Given the description of an element on the screen output the (x, y) to click on. 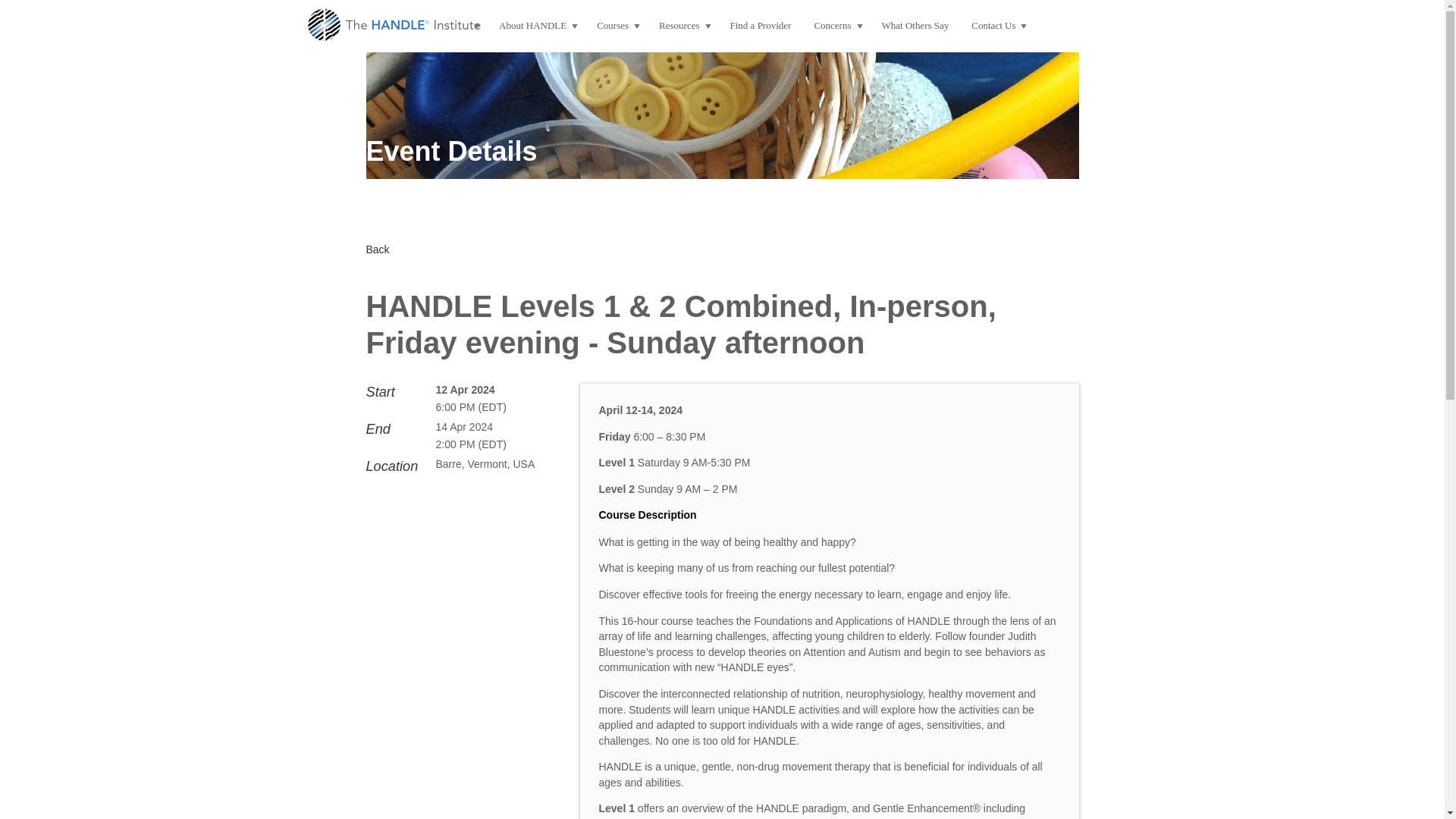
Back (376, 248)
Resources (682, 25)
Find a Provider (761, 25)
Find a Provider (761, 25)
What Others Say (915, 25)
Concerns (835, 25)
About HANDLE (536, 25)
Courses (616, 25)
Resources (682, 25)
Concerns (835, 25)
Courses (616, 25)
What Others Say (915, 25)
About HANDLE (536, 25)
Contact Us (996, 25)
